Given the description of an element on the screen output the (x, y) to click on. 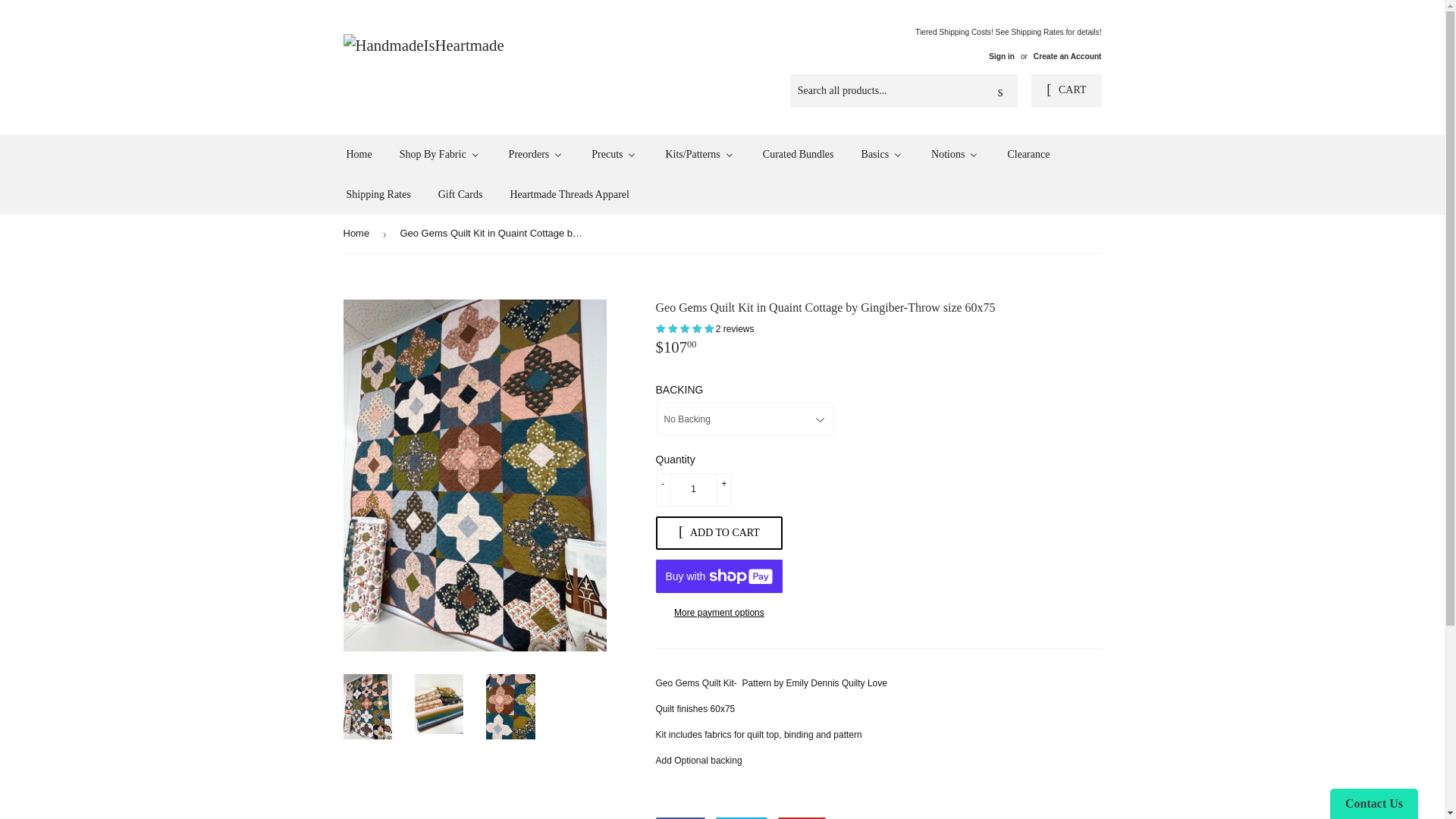
Create an Account (1067, 56)
1 (692, 489)
Sign in (1001, 56)
Search (1000, 91)
CART (1065, 90)
